Given the description of an element on the screen output the (x, y) to click on. 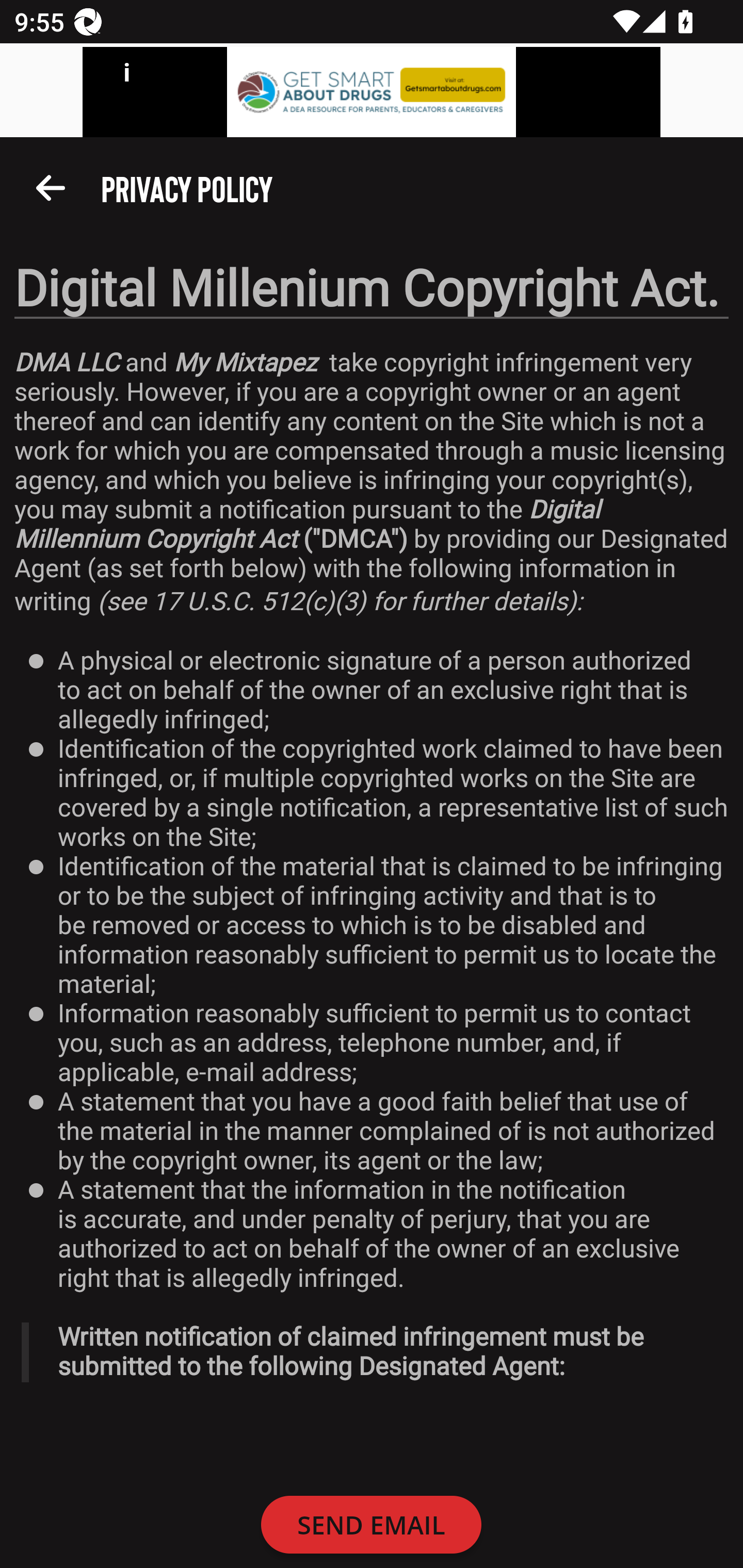
SEND EMAIL (370, 1524)
